Given the description of an element on the screen output the (x, y) to click on. 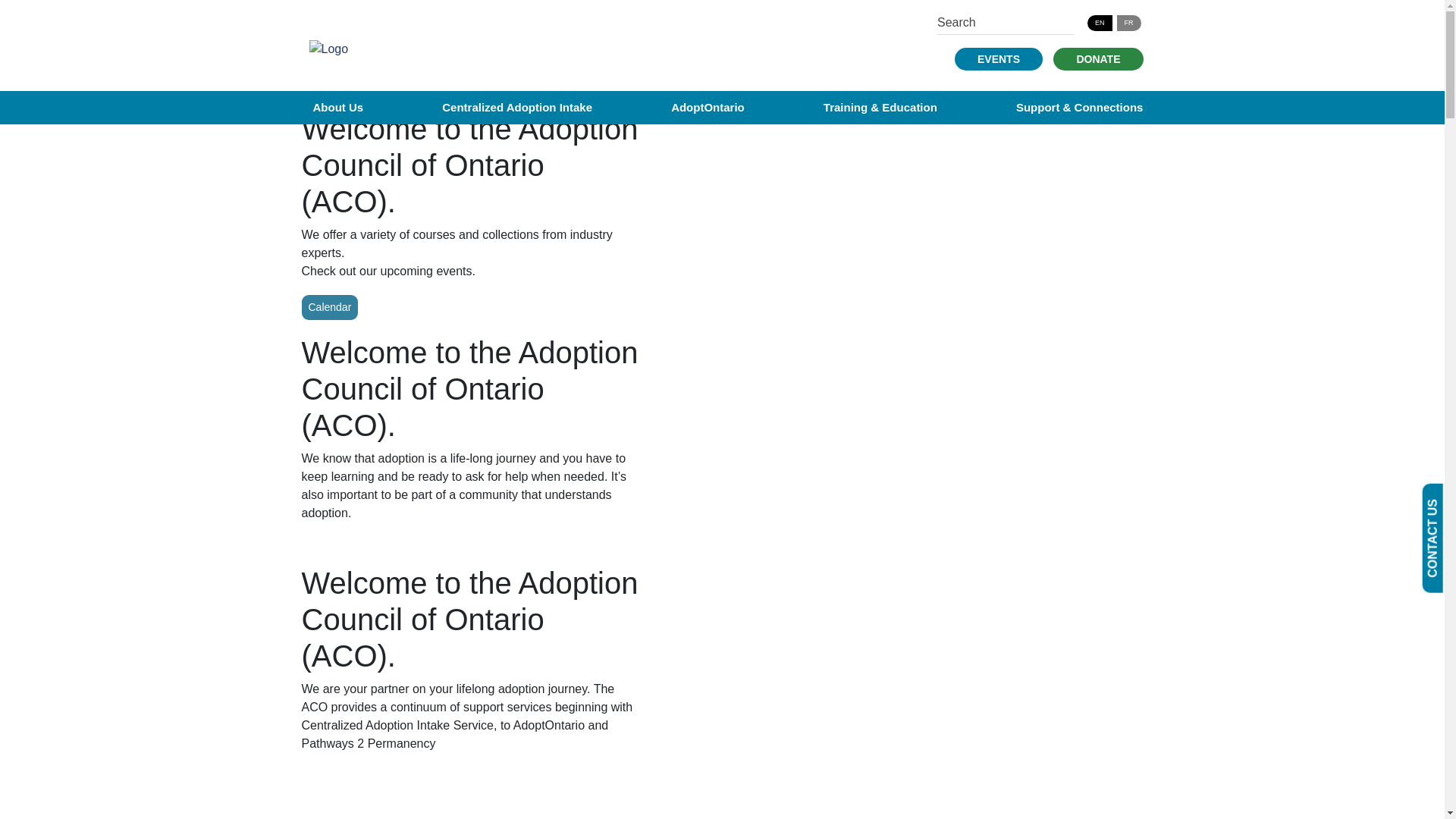
EVENTS (998, 58)
EN (1099, 23)
Calendar (329, 307)
Centralized Adoption Intake (517, 106)
AdoptOntario (707, 106)
DONATE (1097, 58)
About Us (337, 106)
FR (1128, 23)
